Given the description of an element on the screen output the (x, y) to click on. 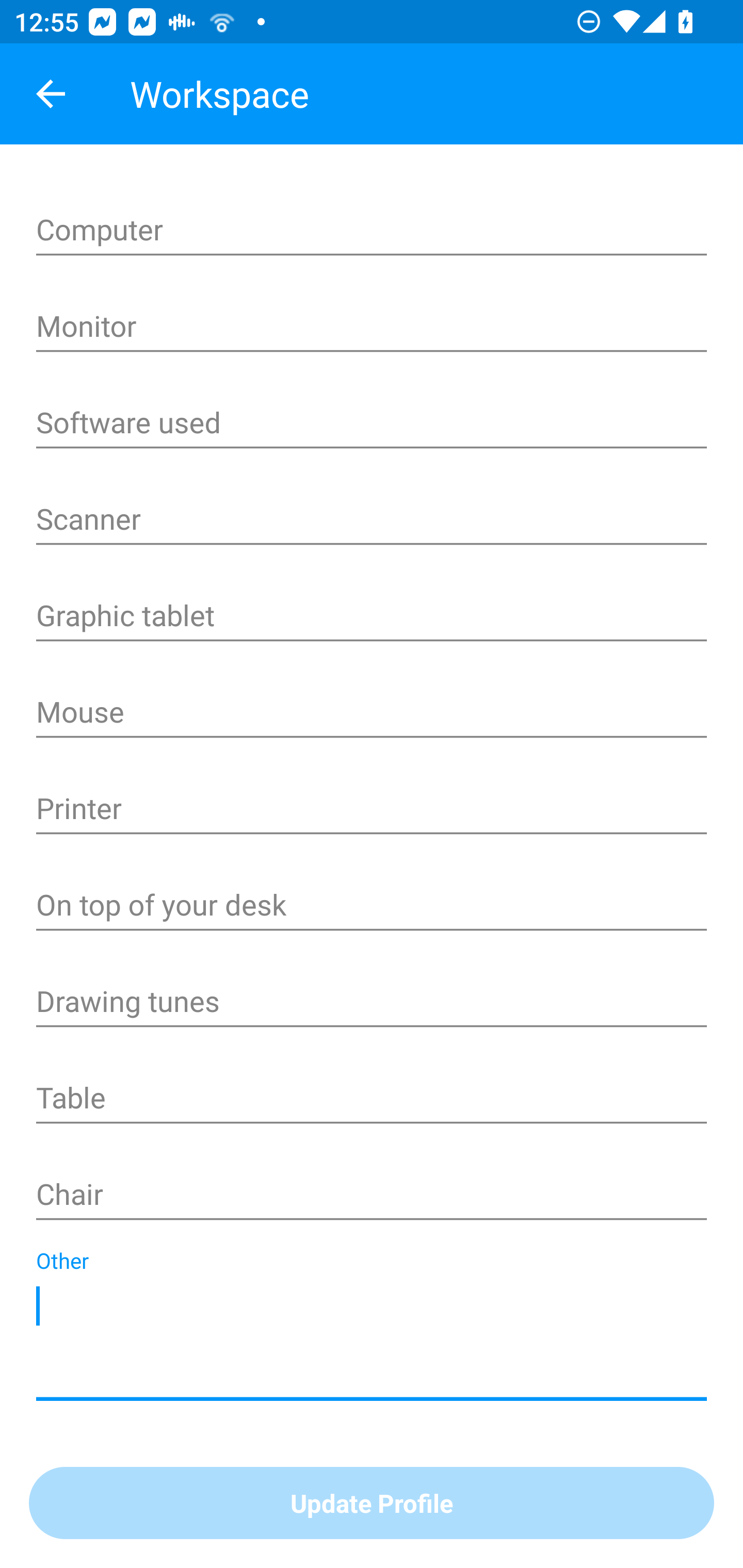
Navigate up (50, 93)
Computer (371, 230)
Monitor (371, 328)
Software used (371, 423)
Scanner (371, 520)
Graphic tablet (371, 616)
Mouse (371, 713)
Printer (371, 809)
On top of your desk (371, 906)
Drawing tunes (371, 1002)
Table (371, 1099)
Chair (371, 1195)
Other (371, 1340)
Update Profile (371, 1503)
